Given the description of an element on the screen output the (x, y) to click on. 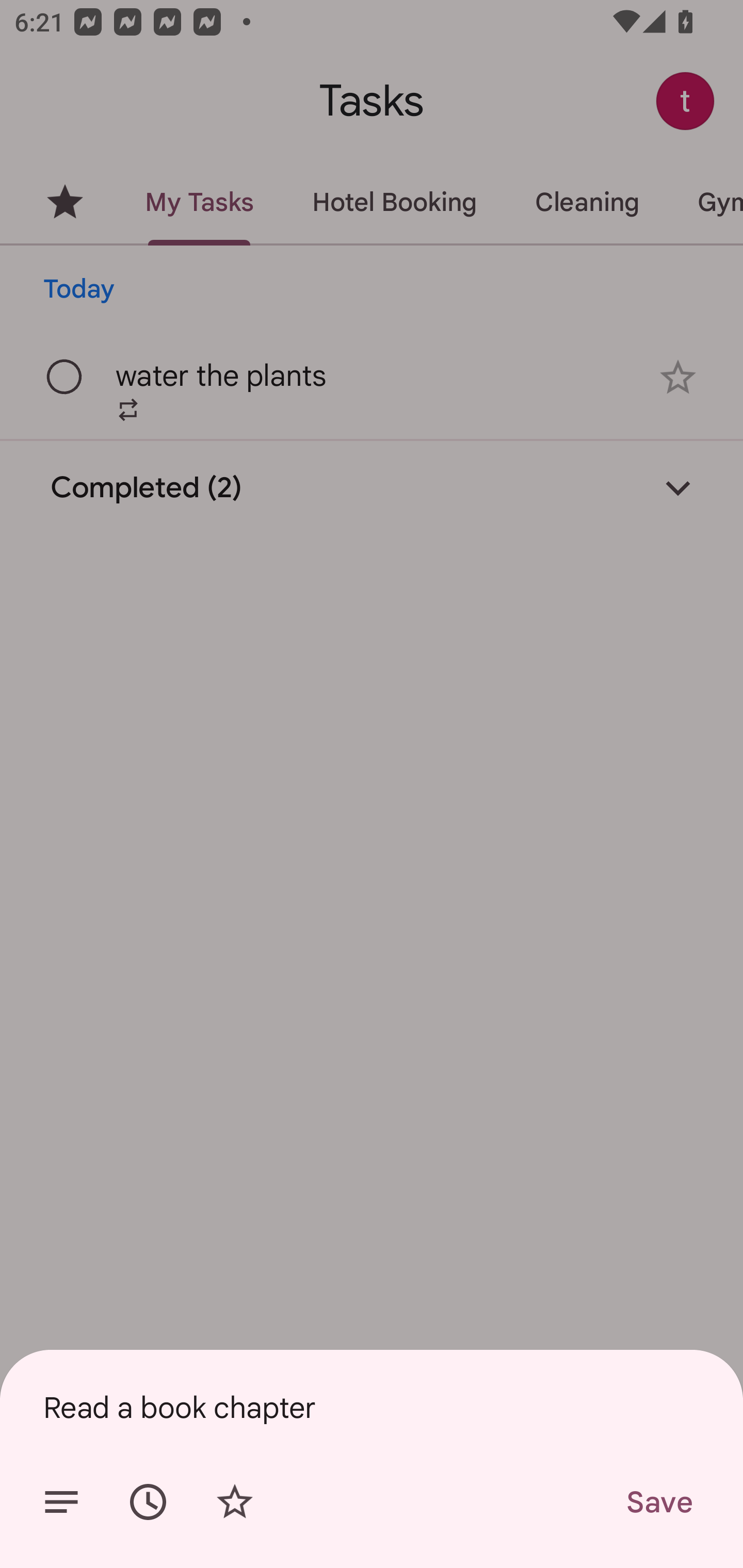
Read a book chapter (371, 1407)
Save (659, 1501)
Add details (60, 1501)
Set date/time (147, 1501)
Add star (234, 1501)
